Given the description of an element on the screen output the (x, y) to click on. 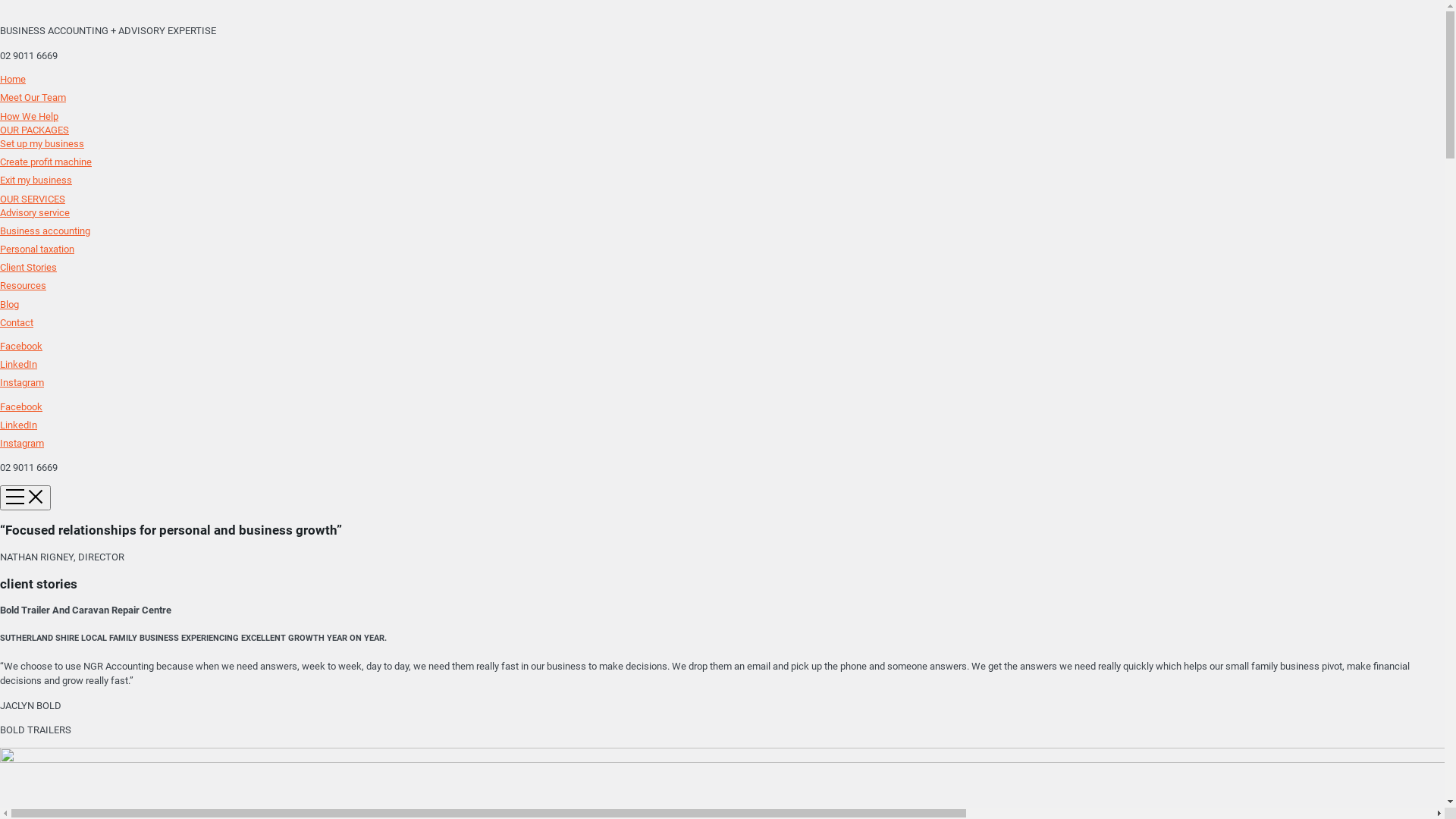
Advisory service Element type: text (34, 212)
Home Element type: text (12, 78)
Facebook Element type: text (21, 406)
Instagram Element type: text (21, 442)
Facebook Element type: text (21, 345)
OUR SERVICES Element type: text (32, 197)
Instagram Element type: text (21, 382)
Blog Element type: text (9, 304)
LinkedIn Element type: text (18, 364)
Set up my business Element type: text (42, 143)
How We Help Element type: text (29, 116)
Meet Our Team Element type: text (32, 97)
Business accounting Element type: text (45, 230)
LinkedIn Element type: text (18, 424)
Personal taxation Element type: text (37, 248)
Resources Element type: text (23, 285)
Contact Element type: text (16, 322)
Exit my business Element type: text (36, 179)
Create profit machine Element type: text (45, 161)
OUR PACKAGES Element type: text (34, 129)
Client Stories Element type: text (28, 267)
